Given the description of an element on the screen output the (x, y) to click on. 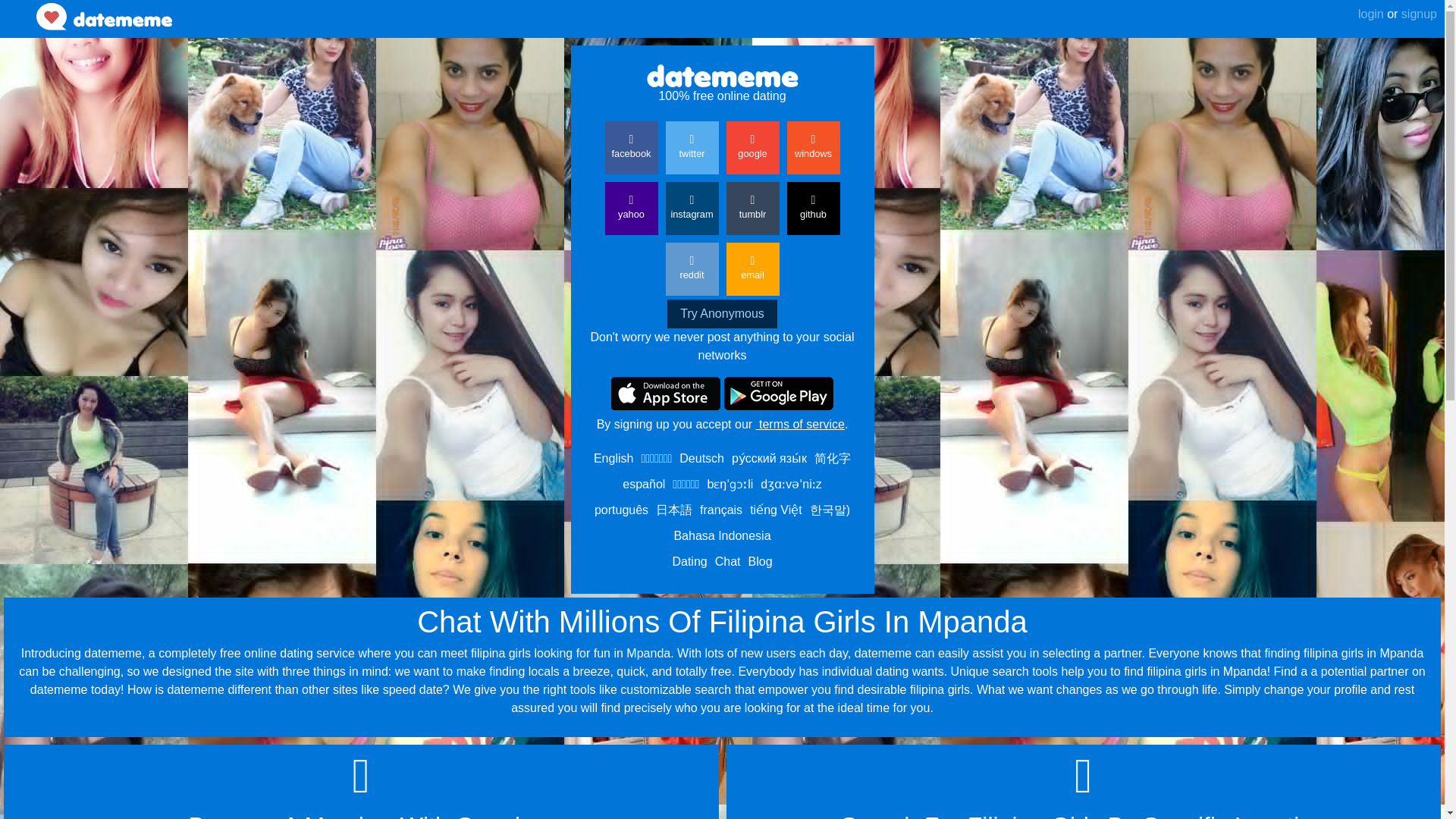
github (813, 208)
reddit (692, 268)
Try Anonymous (721, 313)
 terms of service (799, 423)
Chat (727, 561)
twitter (692, 147)
English (613, 458)
facebook (631, 147)
Dating (688, 561)
login (1371, 14)
